Given the description of an element on the screen output the (x, y) to click on. 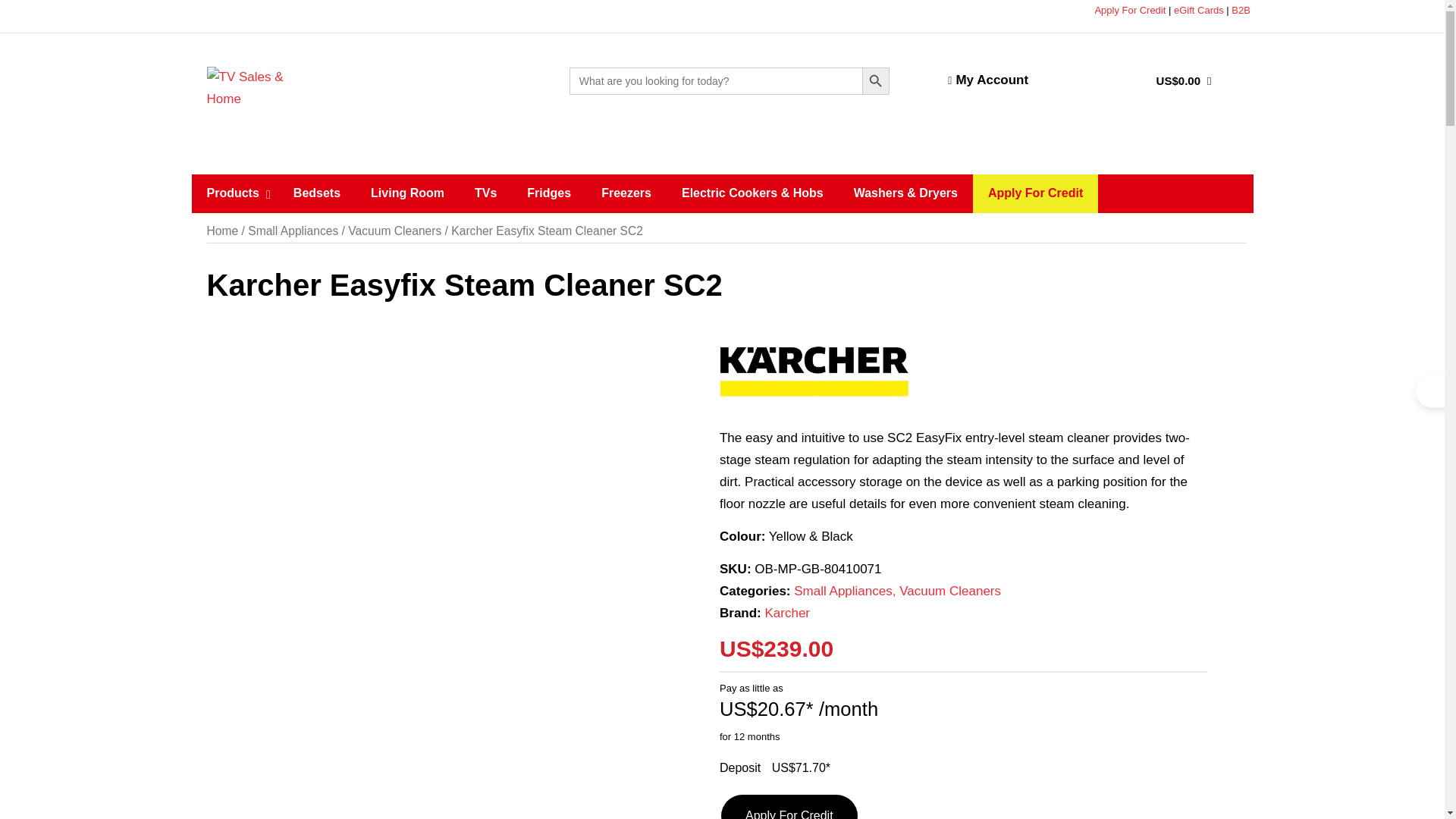
My Account (965, 80)
Products (234, 193)
Apply For Credit (1130, 9)
Search Button (875, 81)
Apply For Credit (788, 806)
eGift Cards (1198, 9)
B2B  (1241, 9)
